Given the description of an element on the screen output the (x, y) to click on. 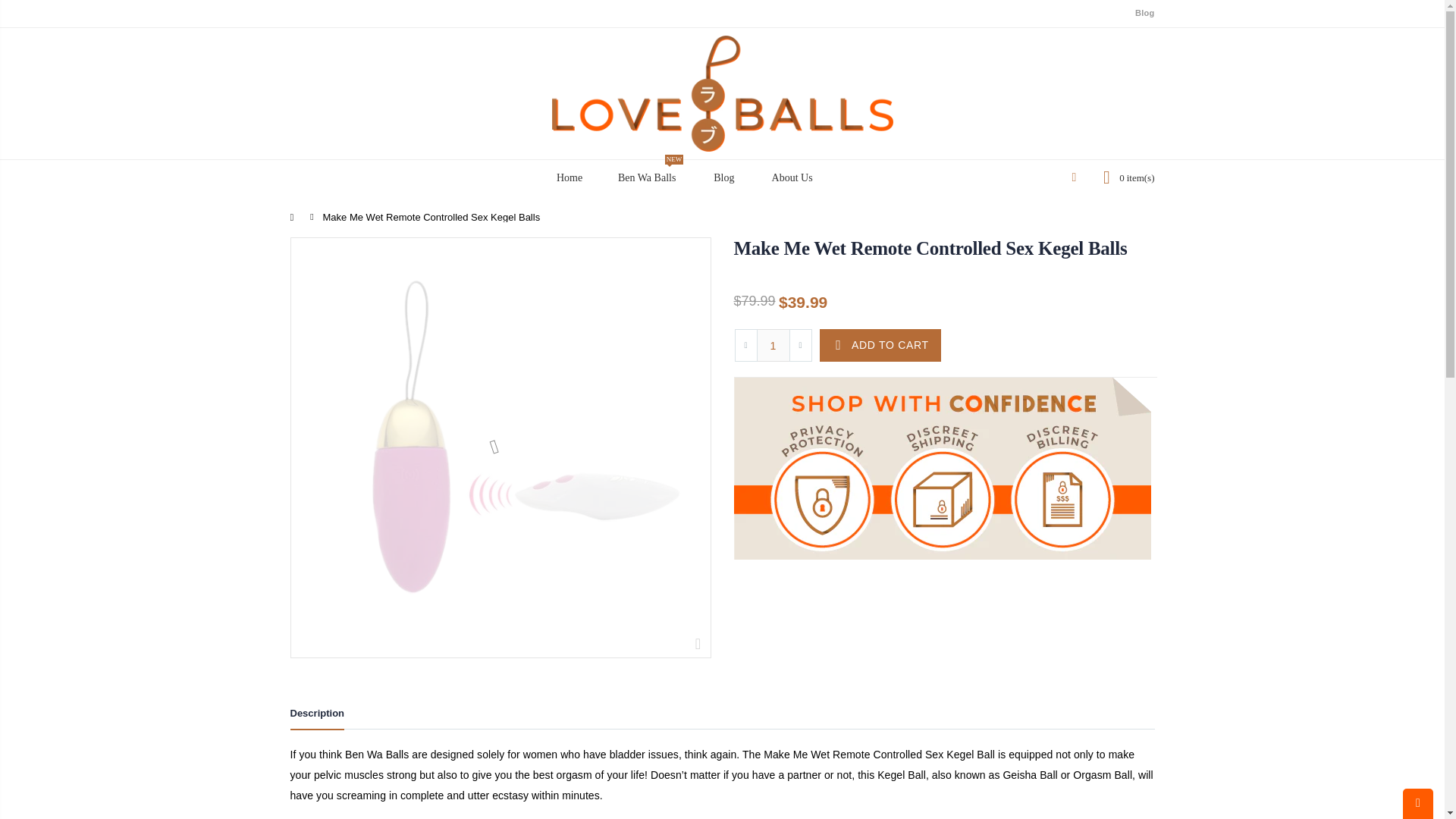
Blog (722, 177)
Back to the frontpage (295, 216)
privacy banner (942, 468)
About Us (791, 177)
Blog (1144, 12)
Home (567, 177)
Make Me Wet Remote Controlled Sex Kegel Balls (929, 248)
1 (773, 345)
ADD TO CART (644, 177)
Description (879, 345)
Home (316, 715)
